Given the description of an element on the screen output the (x, y) to click on. 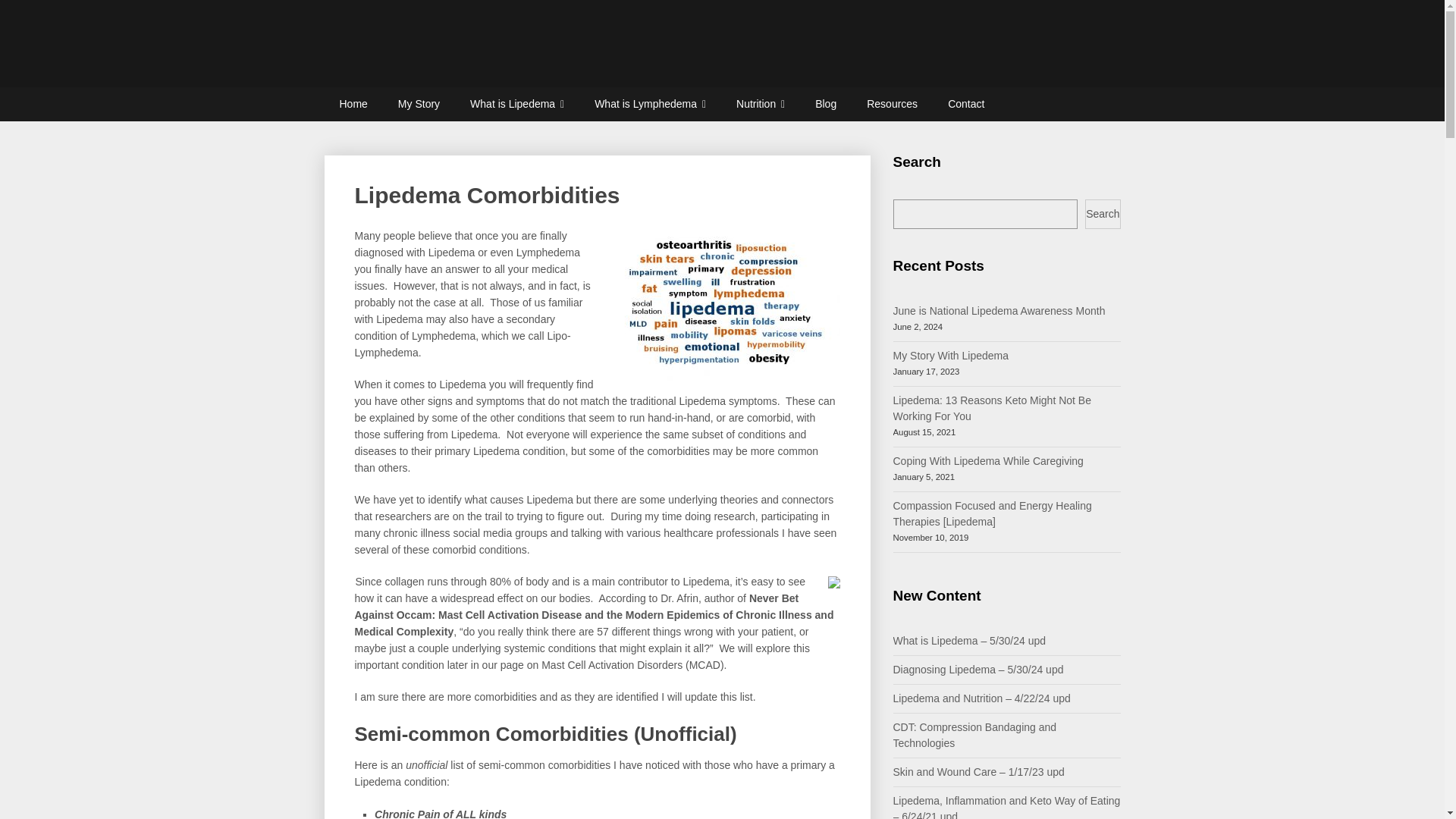
Home (353, 103)
Blog (825, 103)
What is Lipedema (516, 103)
Resources (892, 103)
What is Lymphedema (649, 103)
Nutrition (759, 103)
My Story (418, 103)
Contact (965, 103)
